Given the description of an element on the screen output the (x, y) to click on. 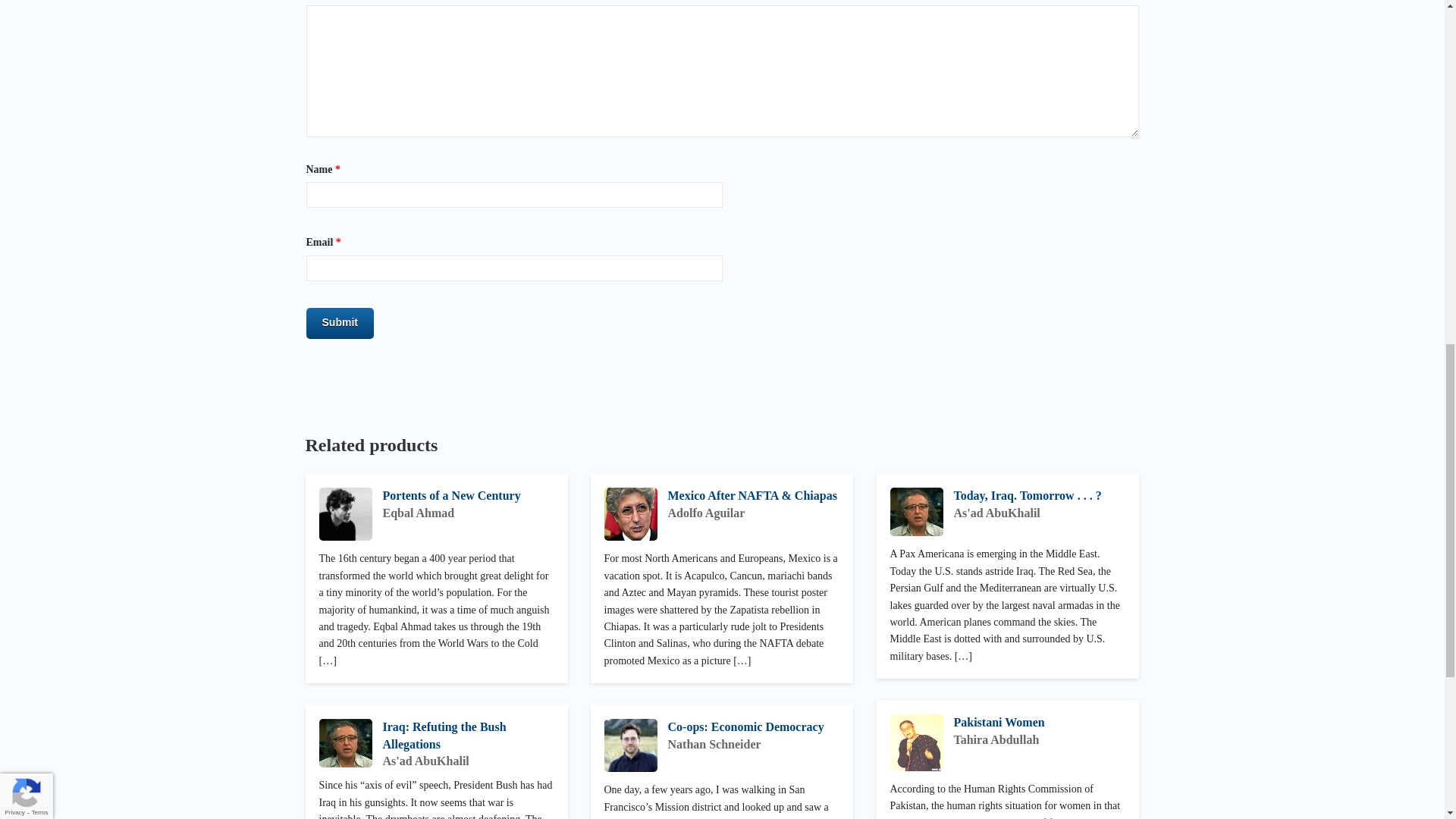
Submit (339, 323)
